Given the description of an element on the screen output the (x, y) to click on. 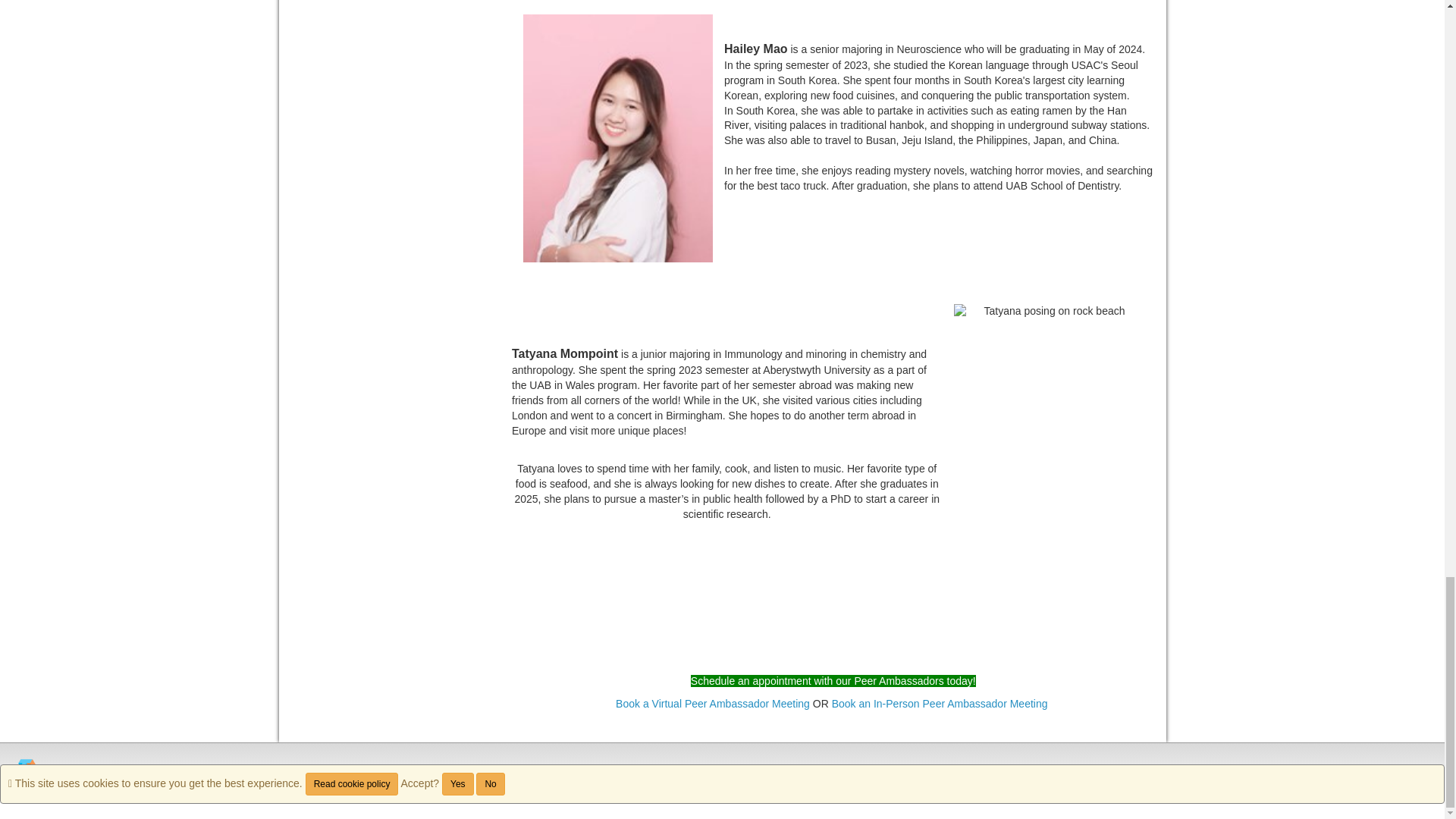
Book an In-Person Peer Ambassador Meeting  (941, 703)
Book a Virtual Peer Ambassador Meeting (712, 703)
